Given the description of an element on the screen output the (x, y) to click on. 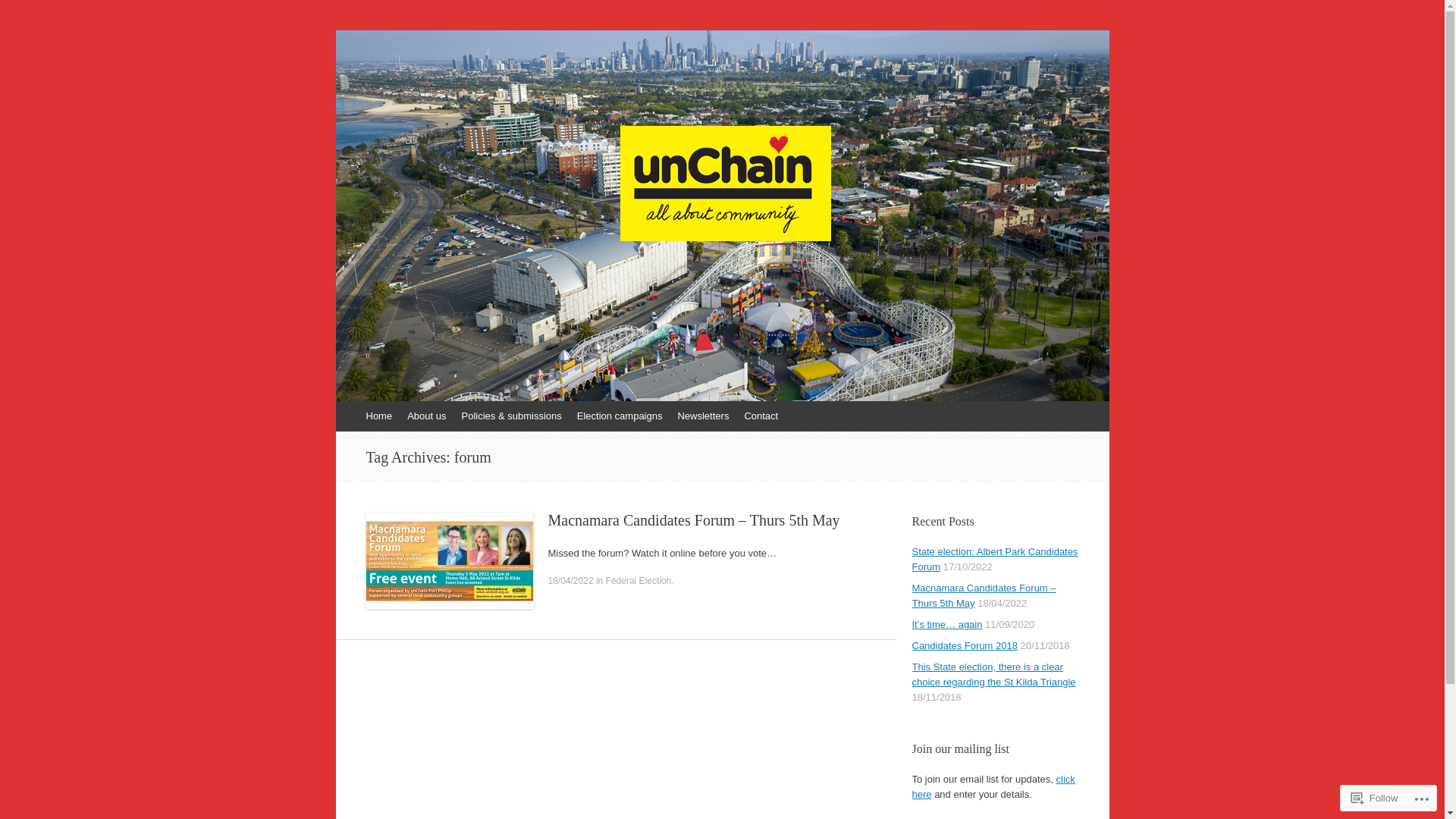
18/04/2022 Element type: text (570, 580)
click here Element type: text (992, 786)
Newsletters Element type: text (702, 416)
State election: Albert Park Candidates Forum Element type: text (994, 559)
Contact Element type: text (760, 416)
Policies & submissions Element type: text (511, 416)
About us Element type: text (426, 416)
unChain Inc Element type: text (428, 81)
Election campaigns Element type: text (619, 416)
Federal Election Element type: text (638, 580)
Candidates Forum 2018 Element type: text (963, 645)
Follow Element type: text (1374, 797)
Home Element type: text (378, 416)
